Given the description of an element on the screen output the (x, y) to click on. 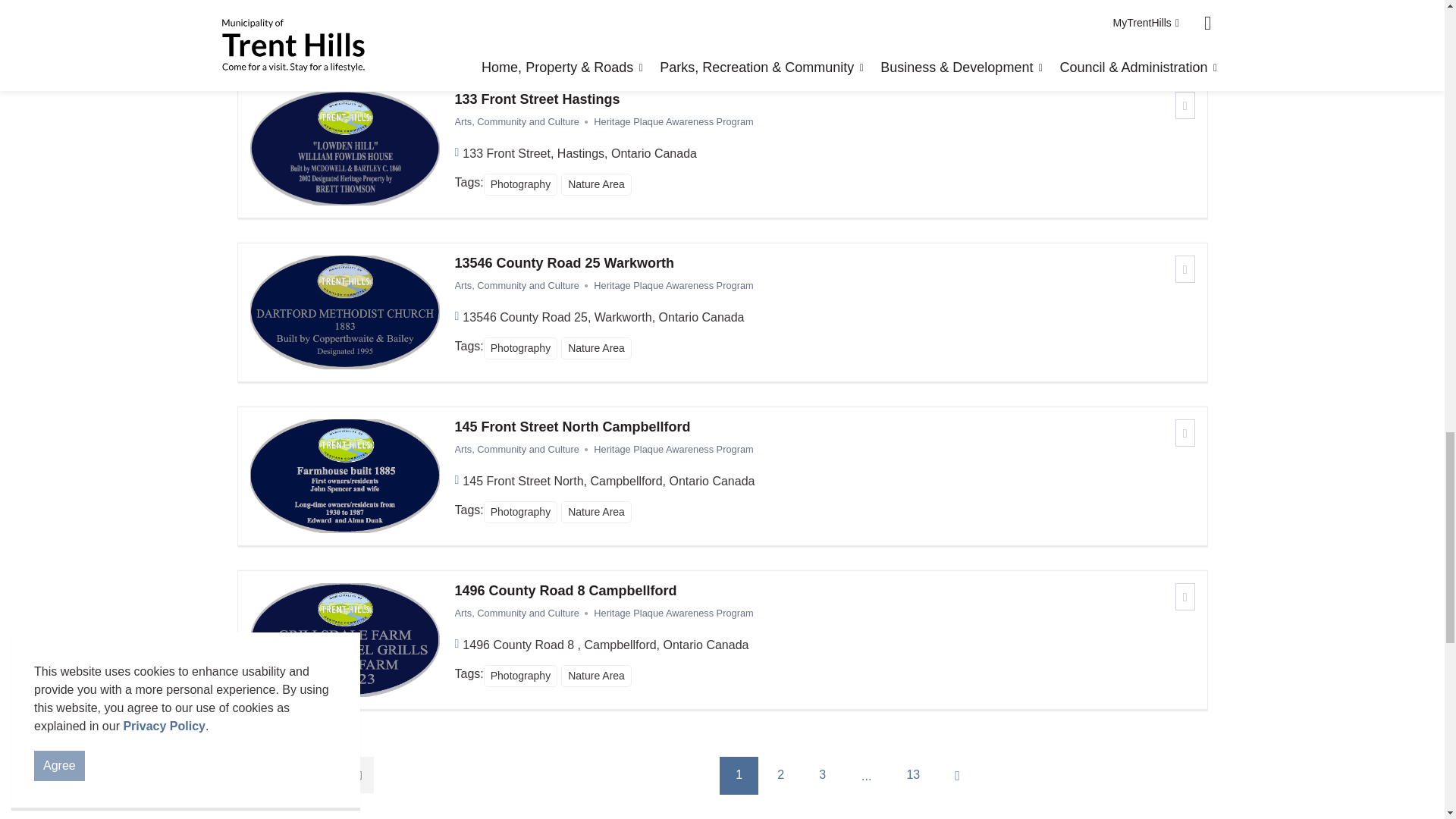
Click to open 145 Front Street North Campbellford (824, 427)
Click to open 13546 County Road 25 Warkworth (824, 263)
Click to open 1496 County Road 8 Campbellford (824, 591)
Click to open 133 Front Street Hastings (824, 99)
Next (957, 775)
